Given the description of an element on the screen output the (x, y) to click on. 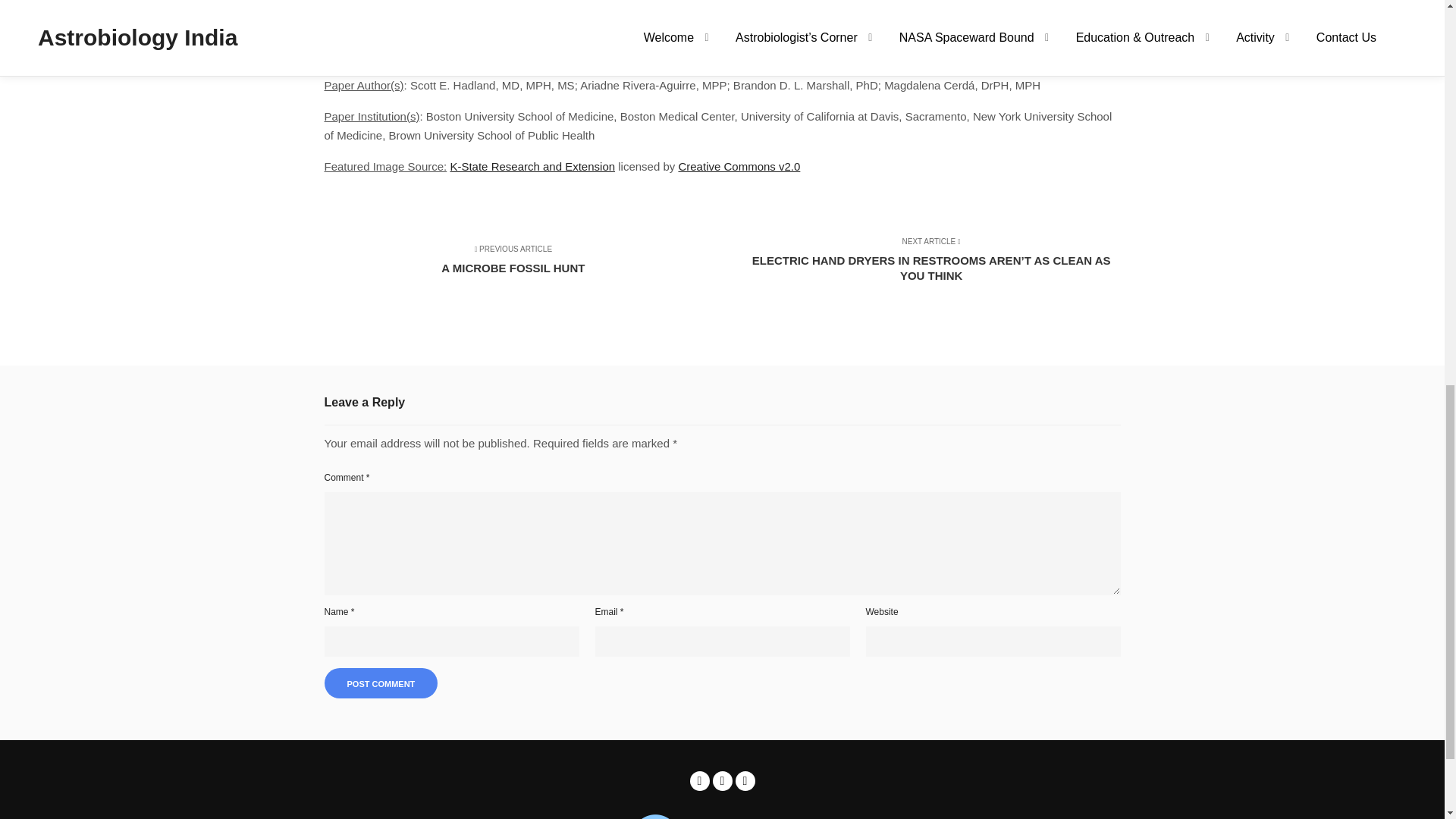
Twitter (722, 781)
Facebook (700, 781)
Creative Commons v2.0 (738, 165)
Post Comment (381, 683)
K-State Research and Extension (531, 165)
Instagram (523, 266)
